Given the description of an element on the screen output the (x, y) to click on. 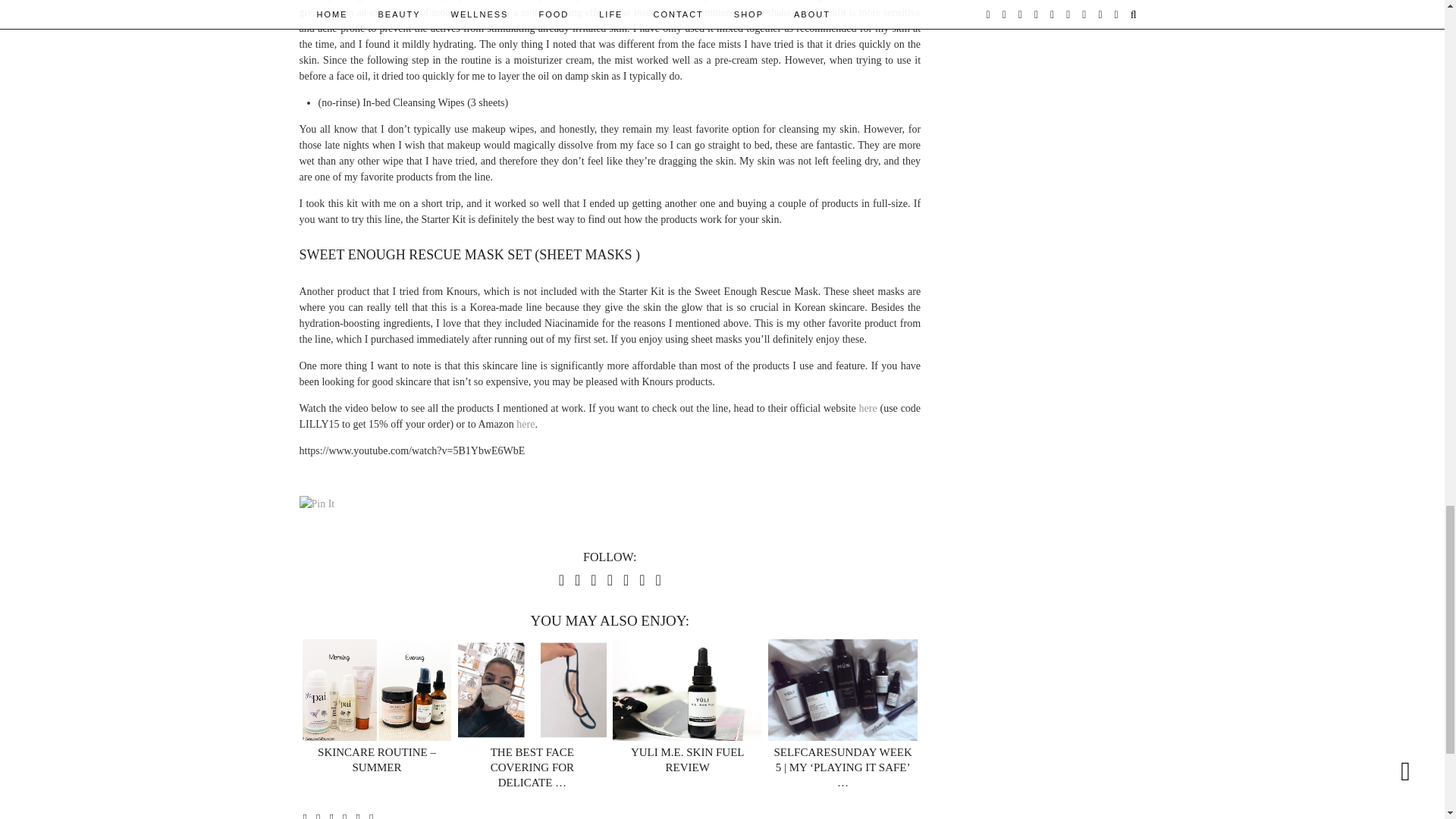
here (525, 423)
here (868, 408)
Pin It (316, 503)
